Given the description of an element on the screen output the (x, y) to click on. 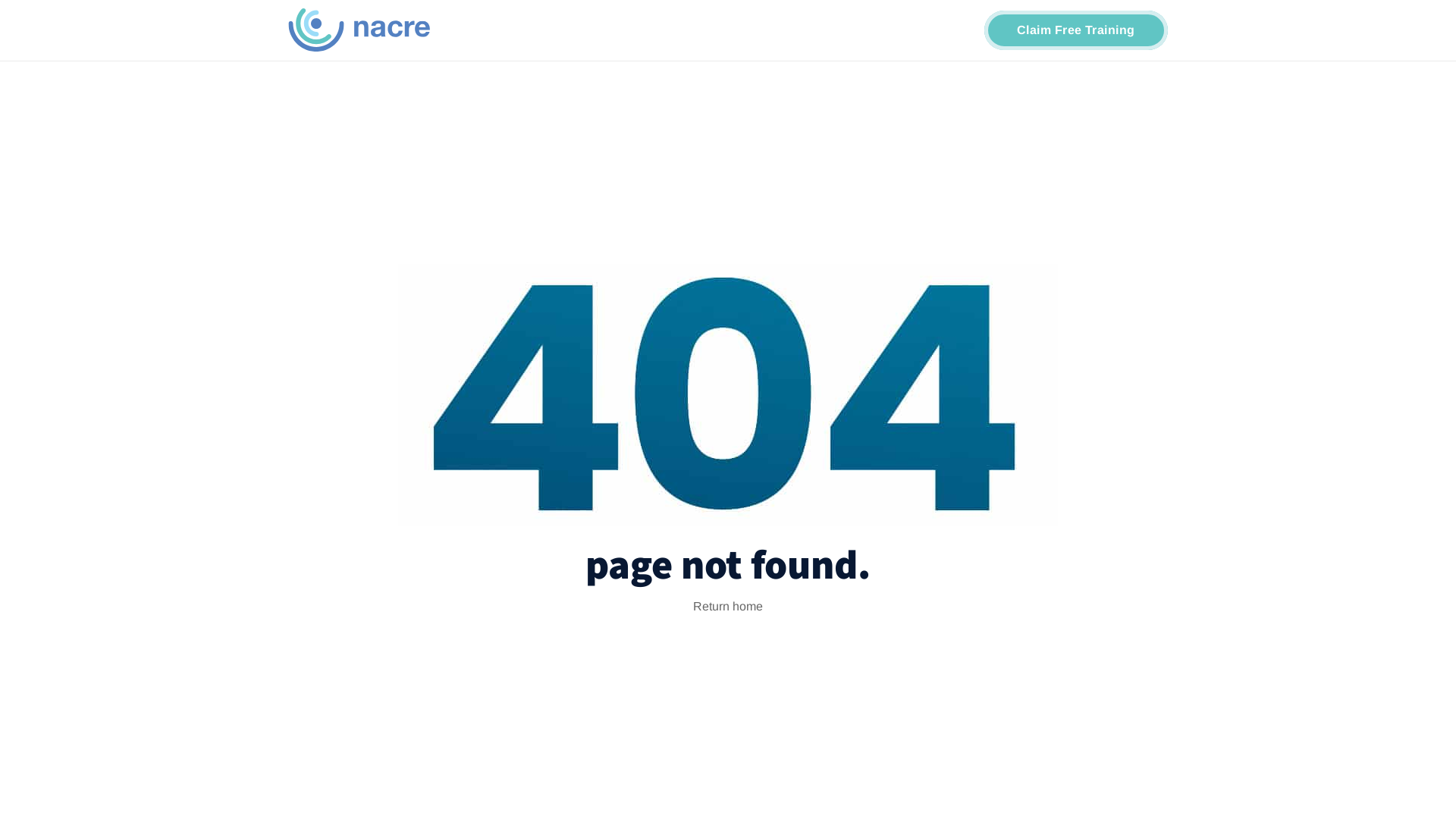
Claim Free Training Element type: text (1076, 29)
Return home Element type: text (727, 605)
